Given the description of an element on the screen output the (x, y) to click on. 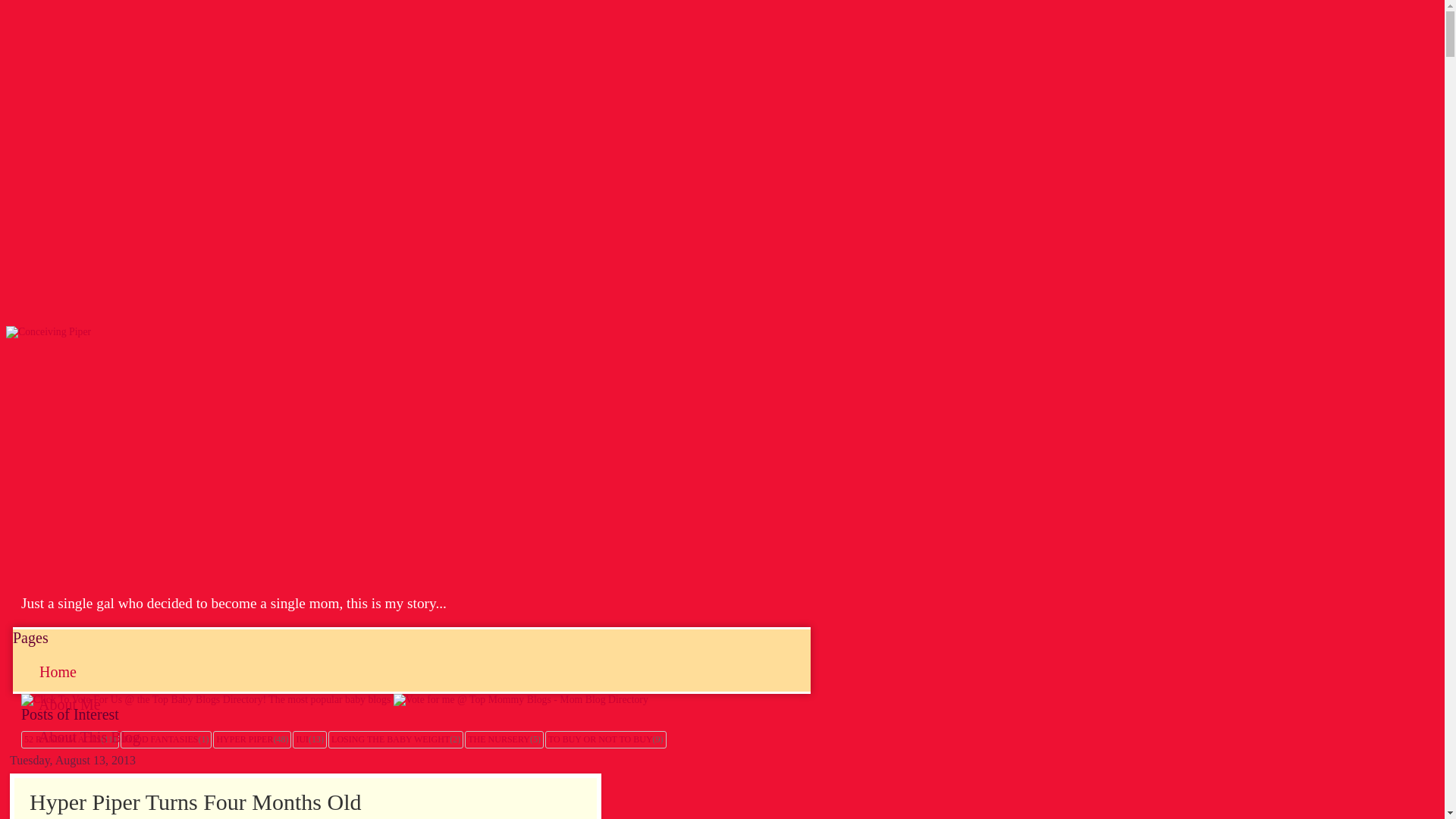
FOOD FANTASIES (160, 739)
Home (58, 672)
About Me (69, 704)
HYPER PIPER (244, 739)
IUI (301, 739)
About This Blog (89, 737)
popular baby blogs (205, 699)
TO BUY OR NOT TO BUY (600, 739)
THE NURSERY (498, 739)
52 RANDOM ACTS (62, 739)
LOSING THE BABY WEIGHT (390, 739)
